Given the description of an element on the screen output the (x, y) to click on. 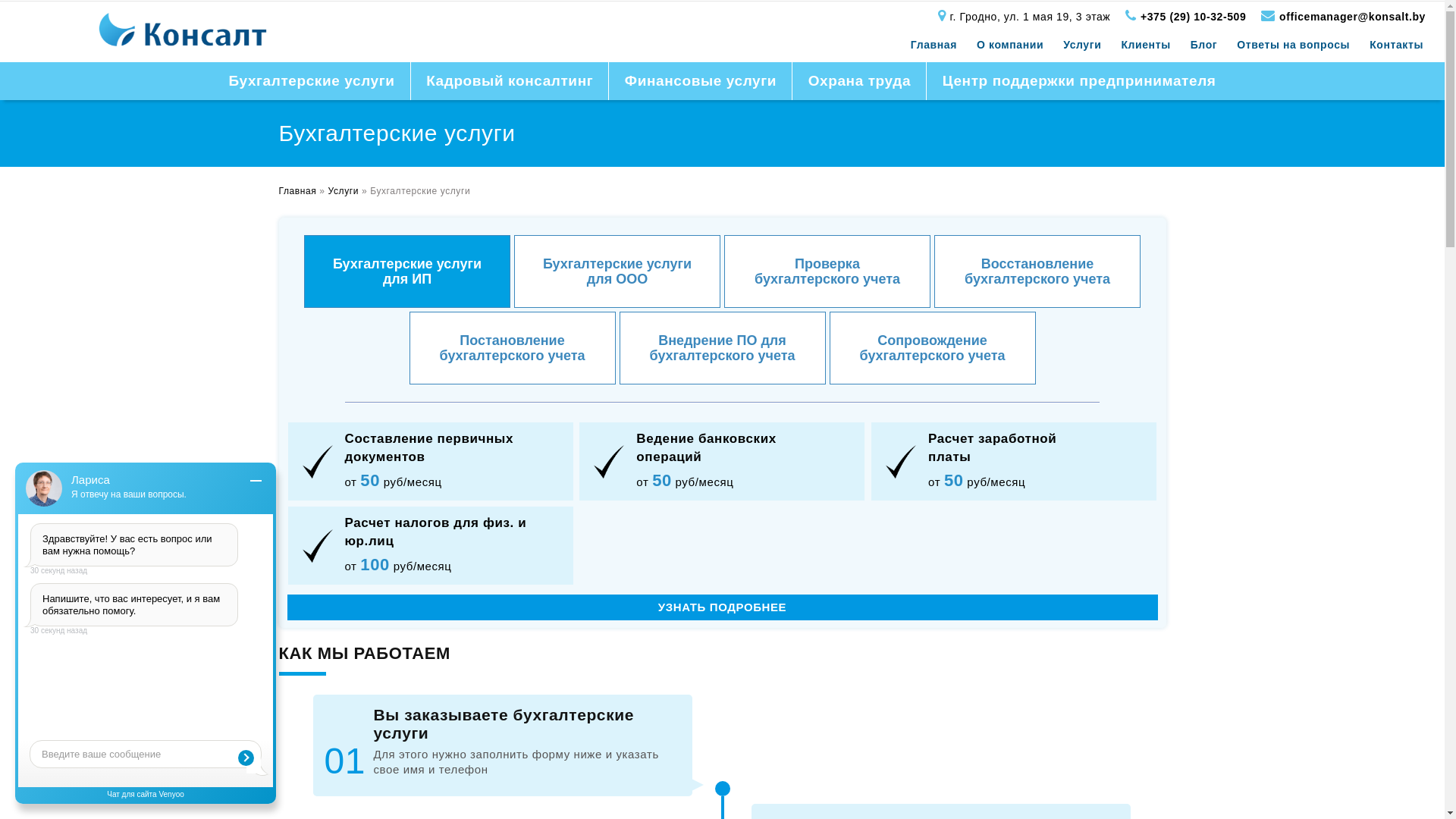
+375 (29) 10-32-509 Element type: text (1192, 16)
officemanager@konsalt.by Element type: text (1352, 16)
